Given the description of an element on the screen output the (x, y) to click on. 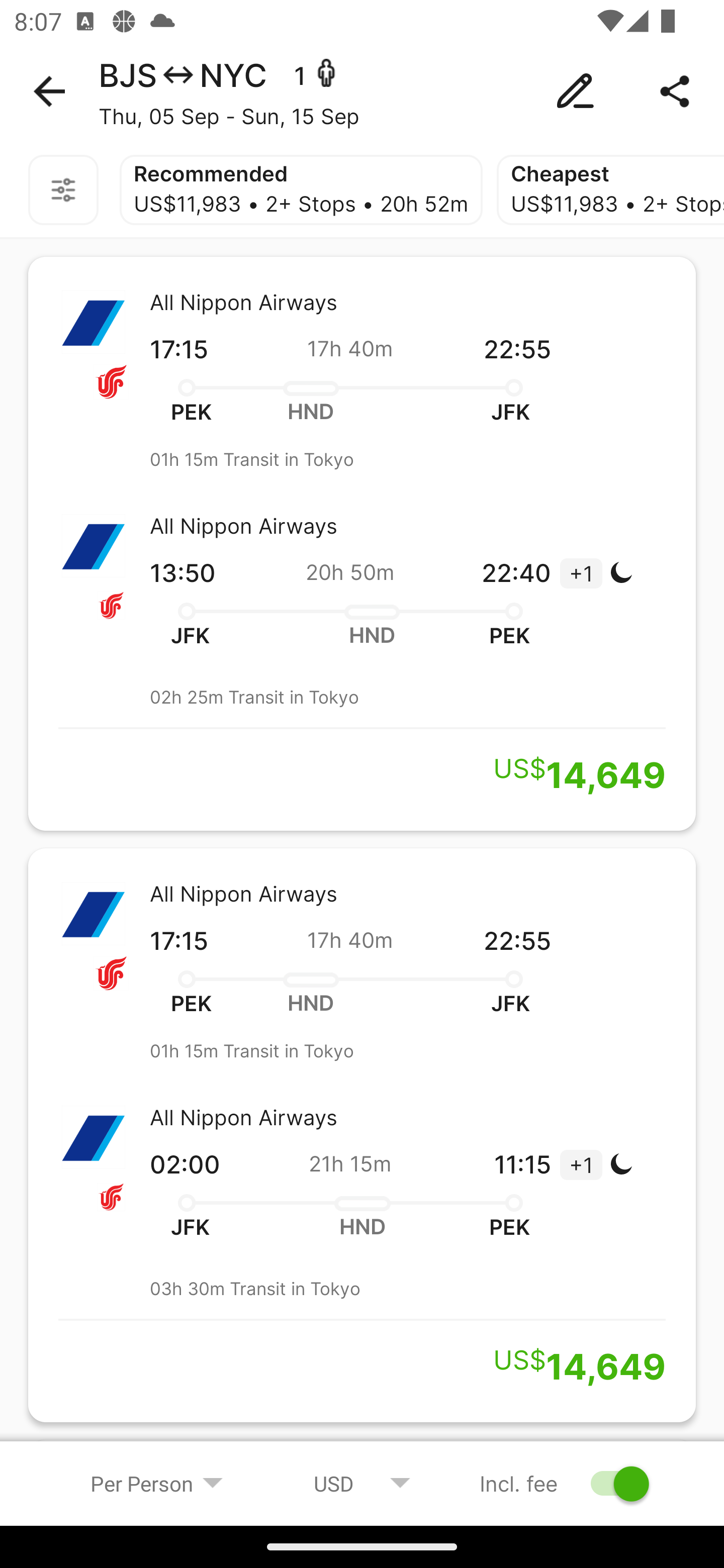
BJS NYC   1 - Thu, 05 Sep - Sun, 15 Sep (361, 91)
Recommended  US$11,983 • 2+ Stops • 20h 52m (300, 190)
Cheapest US$11,983 • 2+ Stops • 34h 32m (610, 190)
Per Person (156, 1482)
USD (361, 1482)
